Given the description of an element on the screen output the (x, y) to click on. 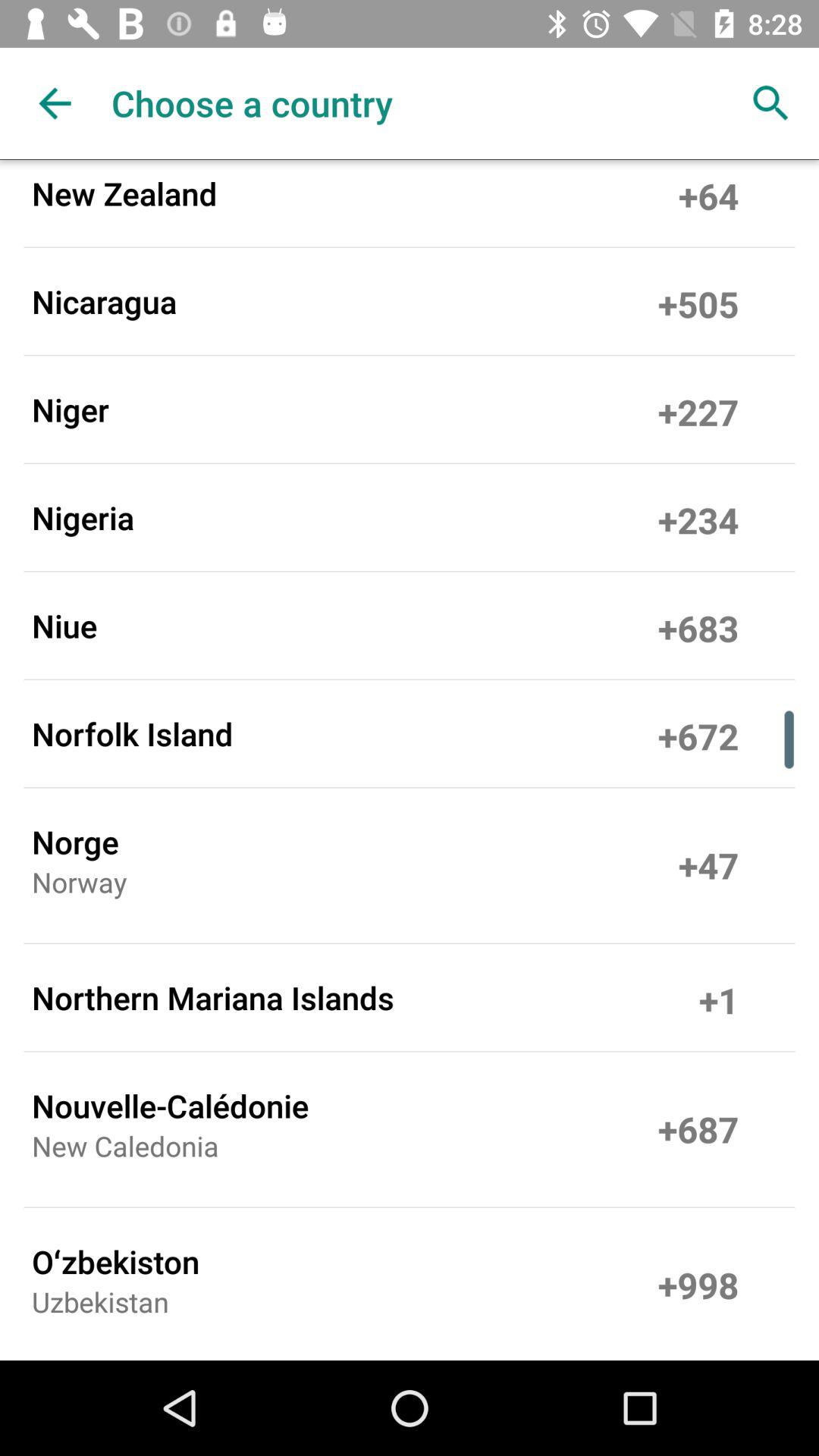
launch the icon to the right of the niue (698, 625)
